Given the description of an element on the screen output the (x, y) to click on. 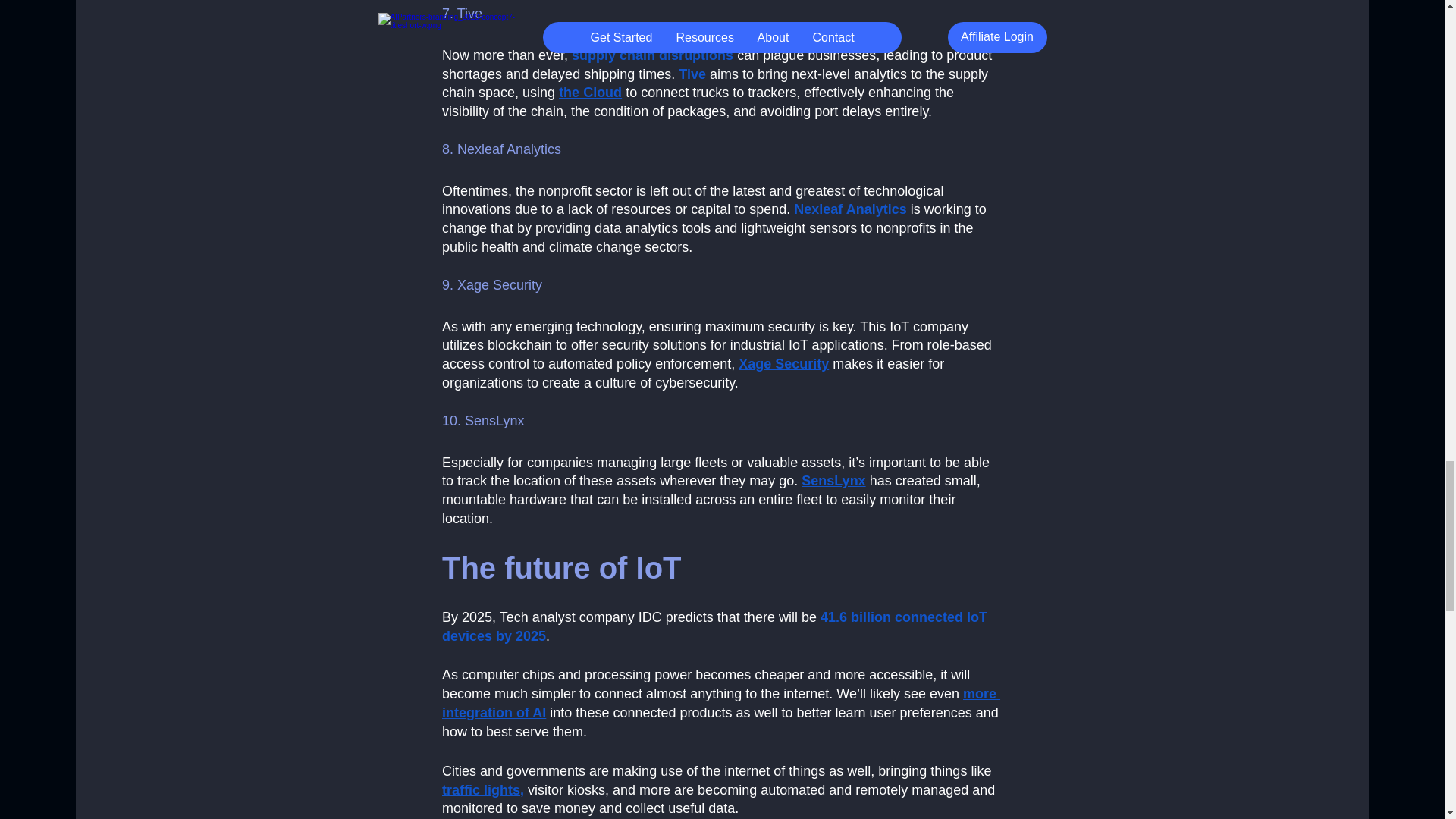
supply chain disruptions (652, 55)
SensLynx (833, 480)
Xage Security (783, 363)
traffic lights, (481, 789)
more integration of AI (719, 703)
41.6 billion connected IoT devices by 2025 (715, 626)
Tive (692, 73)
the Cloud (590, 92)
Nexleaf Analytics (849, 209)
